Given the description of an element on the screen output the (x, y) to click on. 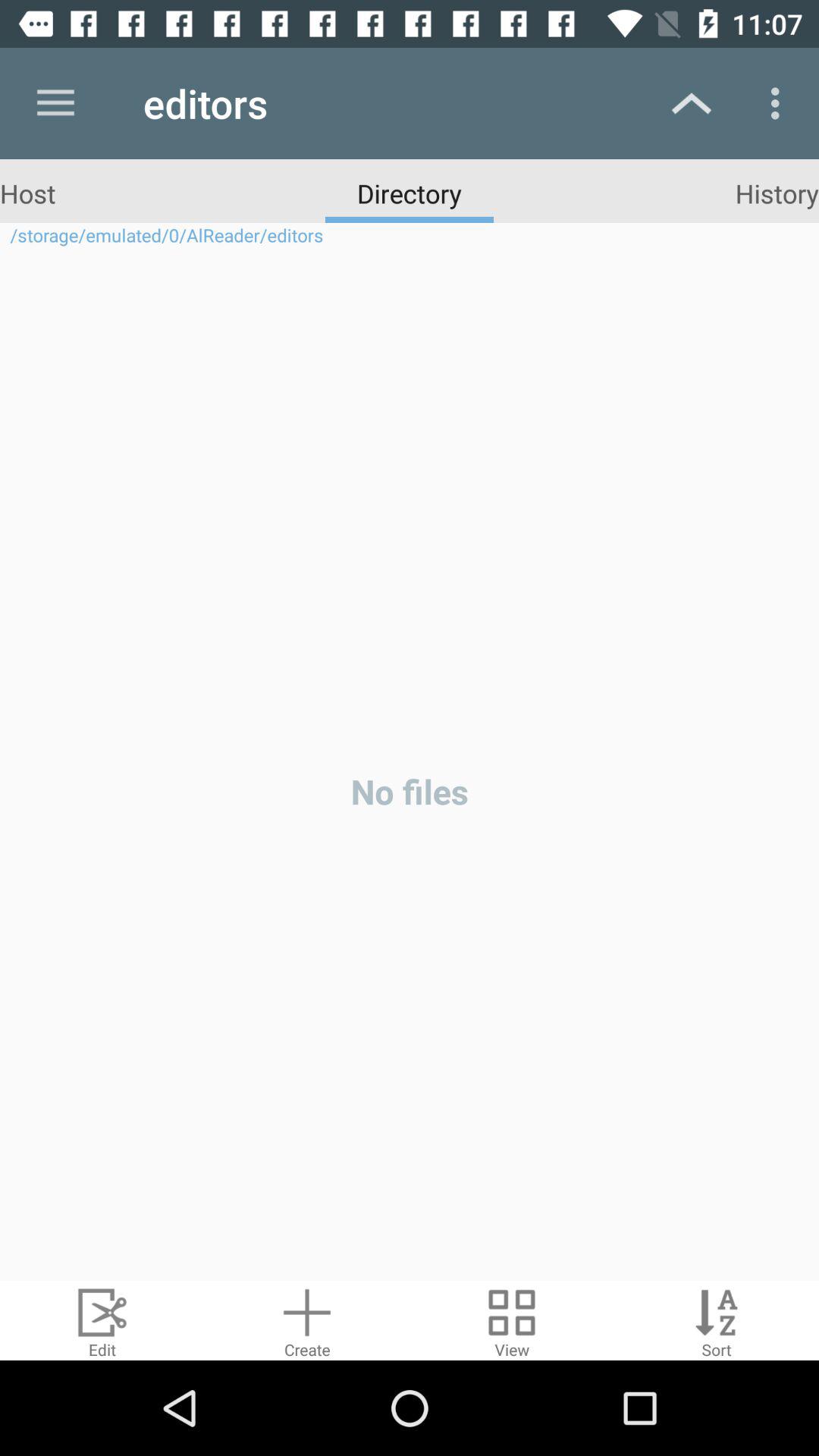
view (511, 1320)
